Given the description of an element on the screen output the (x, y) to click on. 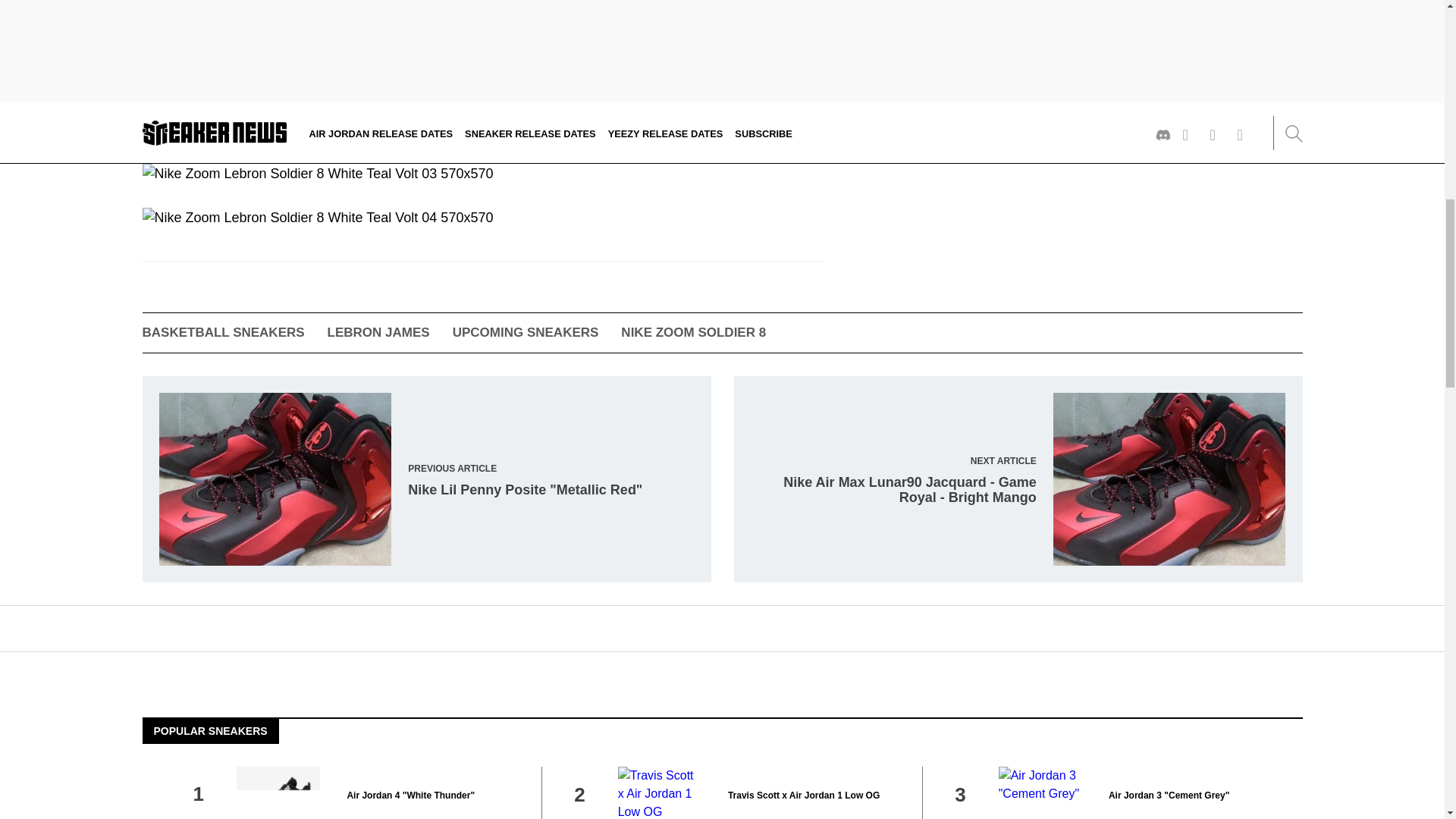
Air Jordan 3 "Cement Grey" (1168, 795)
sneakergaga (232, 89)
UPCOMING SNEAKERS (525, 332)
Travis Scott x Air Jordan 1 Low OG (803, 795)
LEBRON JAMES (378, 332)
BASKETBALL SNEAKERS (223, 332)
Air Jordan 4 "White Thunder" (410, 795)
NIKE ZOOM SOLDIER 8 (693, 332)
